Given the description of an element on the screen output the (x, y) to click on. 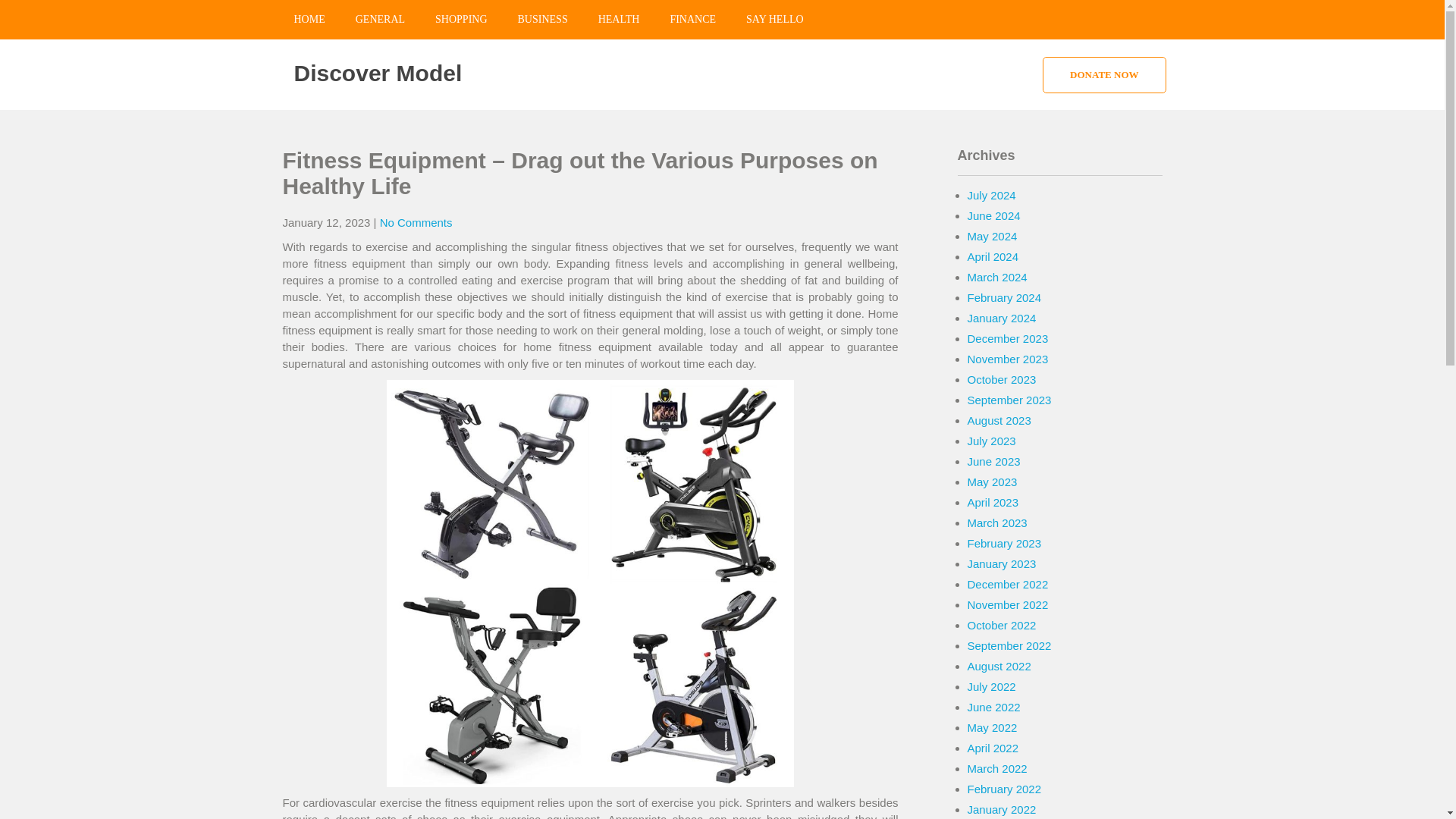
SAY HELLO (774, 19)
No Comments (416, 222)
November 2022 (1008, 604)
HOME (309, 19)
October 2023 (1002, 379)
January 2023 (1002, 563)
October 2022 (1002, 625)
May 2024 (992, 236)
March 2023 (997, 522)
November 2023 (1008, 358)
January 2024 (1002, 318)
December 2022 (1008, 584)
SHOPPING (461, 19)
May 2023 (992, 481)
August 2023 (999, 420)
